Given the description of an element on the screen output the (x, y) to click on. 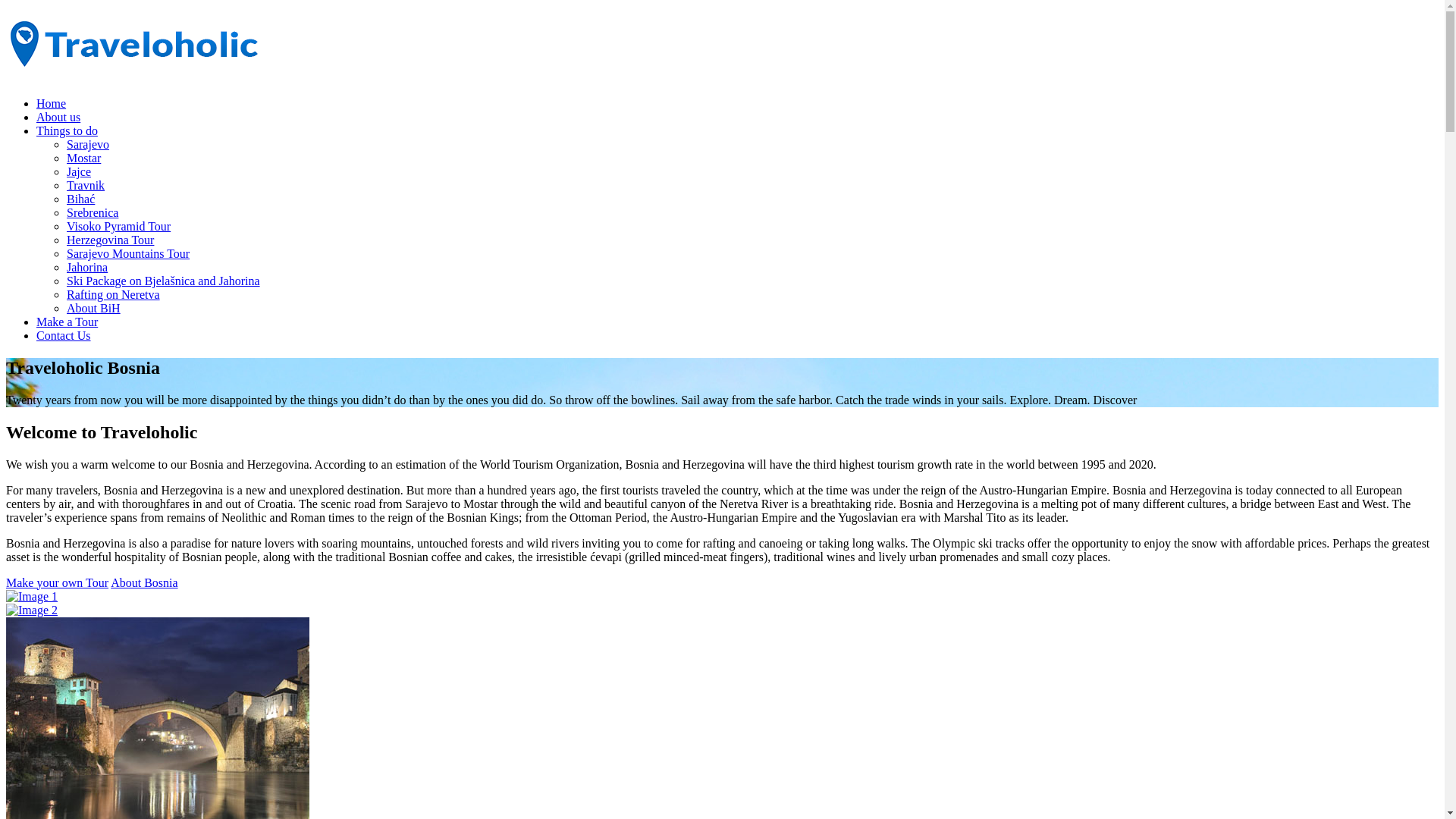
Herzegovina Tour Element type: text (752, 240)
Contact Us Element type: text (737, 335)
Sarajevo Element type: text (752, 144)
About us Element type: text (737, 117)
Srebrenica Element type: text (752, 212)
Sarajevo Mountains Tour Element type: text (752, 253)
Travnik Element type: text (752, 185)
About Bosnia Element type: text (143, 582)
Rafting on Neretva Element type: text (752, 294)
Make your own Tour Element type: text (57, 582)
Jajce Element type: text (752, 171)
Jahorina Element type: text (752, 267)
Home Element type: text (737, 103)
Mostar Element type: text (752, 158)
Visoko Pyramid Tour Element type: text (752, 226)
Things to do Element type: text (737, 131)
Make a Tour Element type: text (737, 322)
About BiH Element type: text (752, 308)
